Given the description of an element on the screen output the (x, y) to click on. 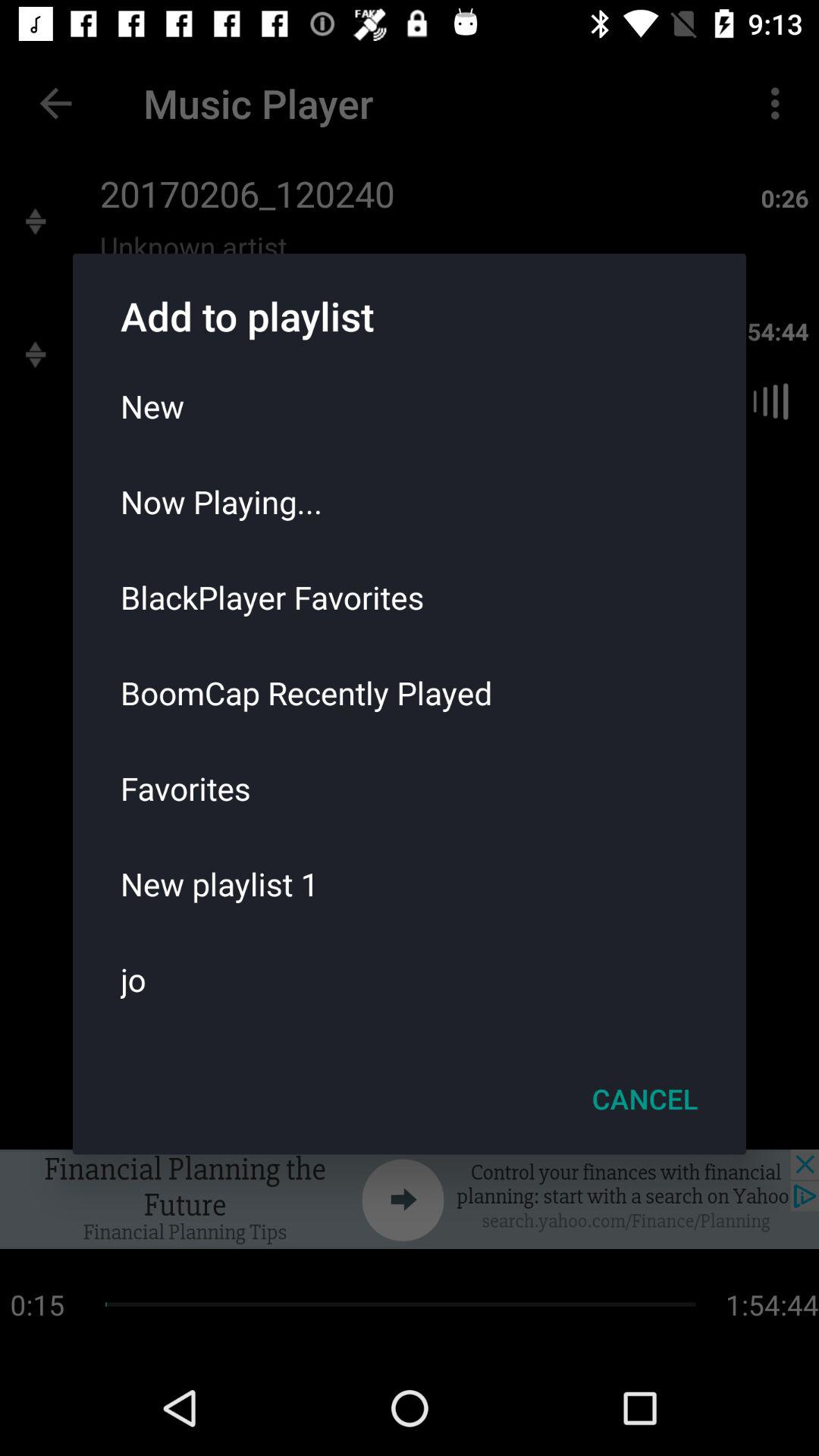
click the blackplayer favorites icon (409, 596)
